Given the description of an element on the screen output the (x, y) to click on. 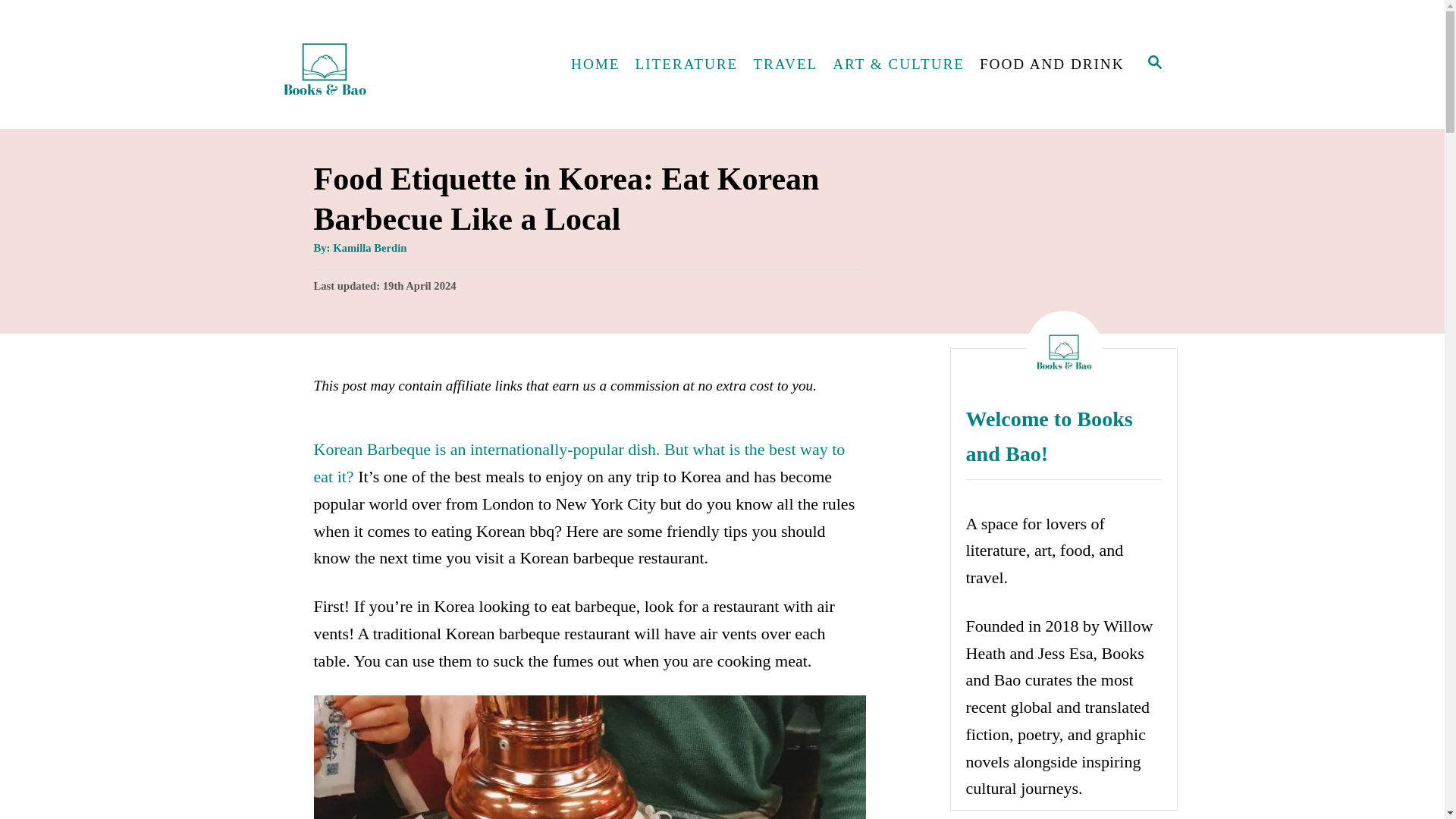
TRAVEL (785, 64)
SEARCH (1154, 64)
HOME (595, 64)
LITERATURE (686, 64)
Books and Bao (397, 64)
